Given the description of an element on the screen output the (x, y) to click on. 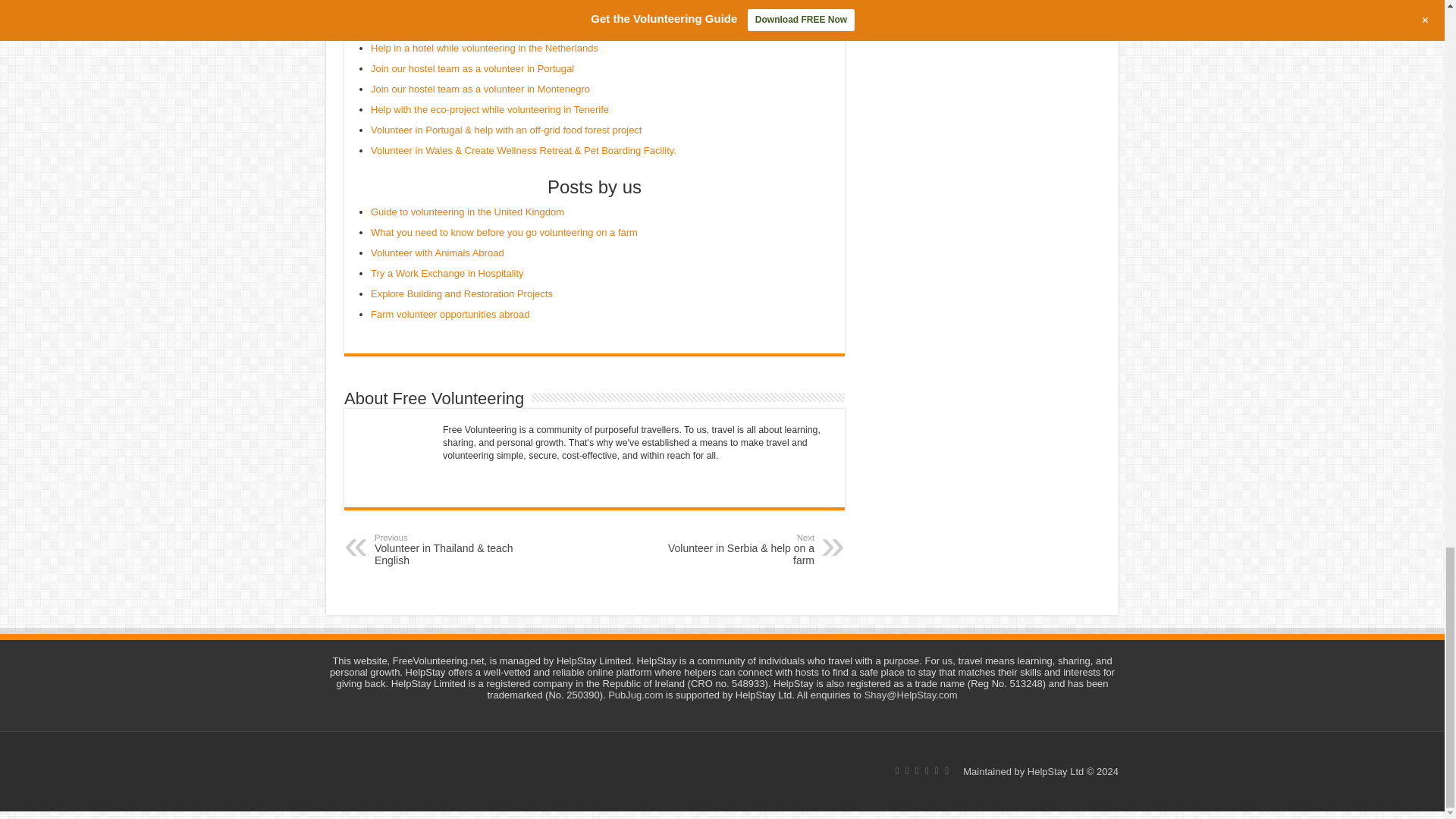
HelpStay Ltd (1055, 771)
